Given the description of an element on the screen output the (x, y) to click on. 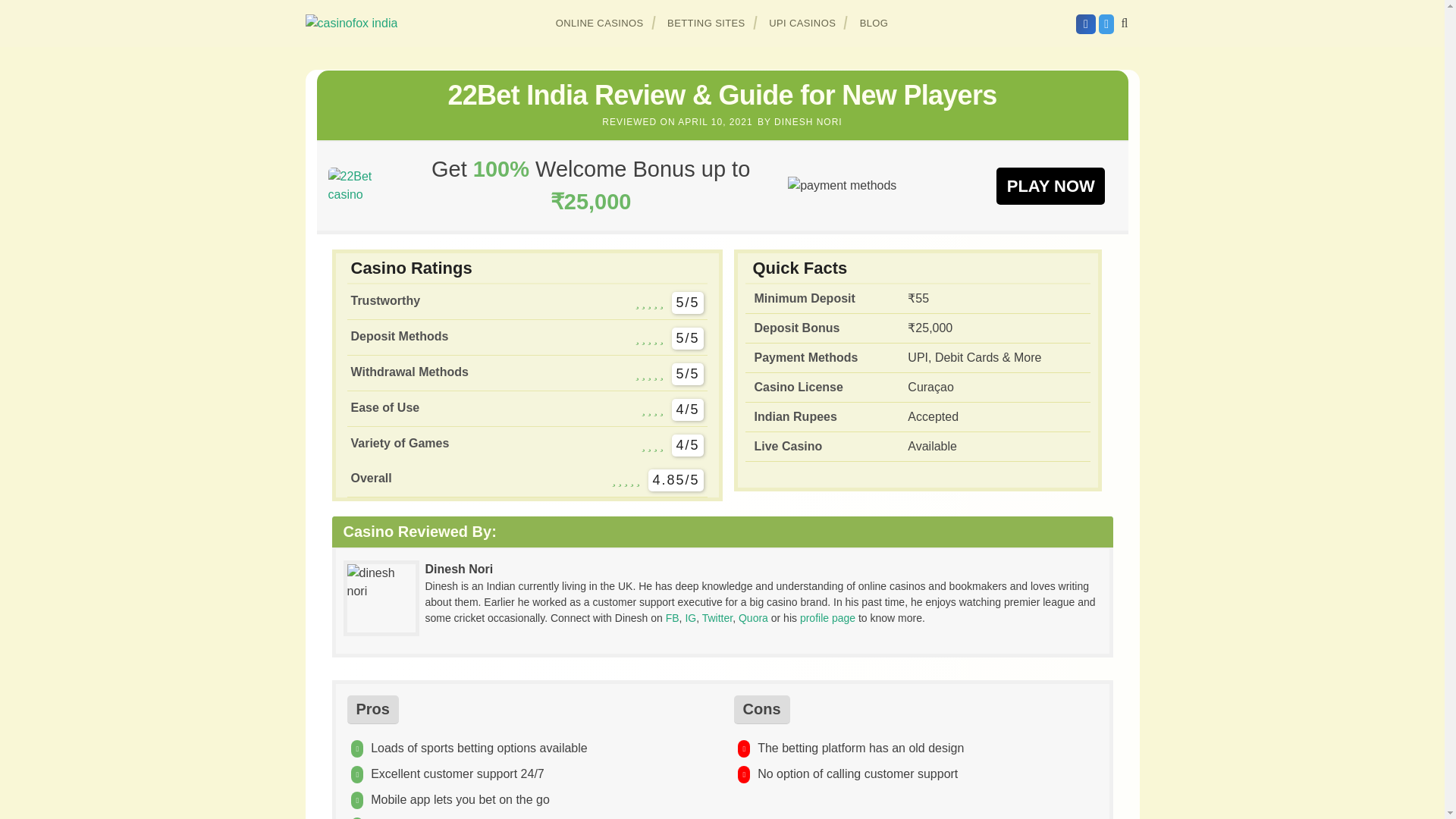
FB (672, 617)
profile page (827, 617)
Quora (753, 617)
ONLINE CASINOS (599, 23)
BETTING SITES (706, 23)
22Bet (1050, 185)
22Bet (360, 185)
Twitter (716, 617)
BLOG (874, 23)
IG (689, 617)
PLAY NOW (1050, 185)
UPI CASINOS (801, 23)
